Given the description of an element on the screen output the (x, y) to click on. 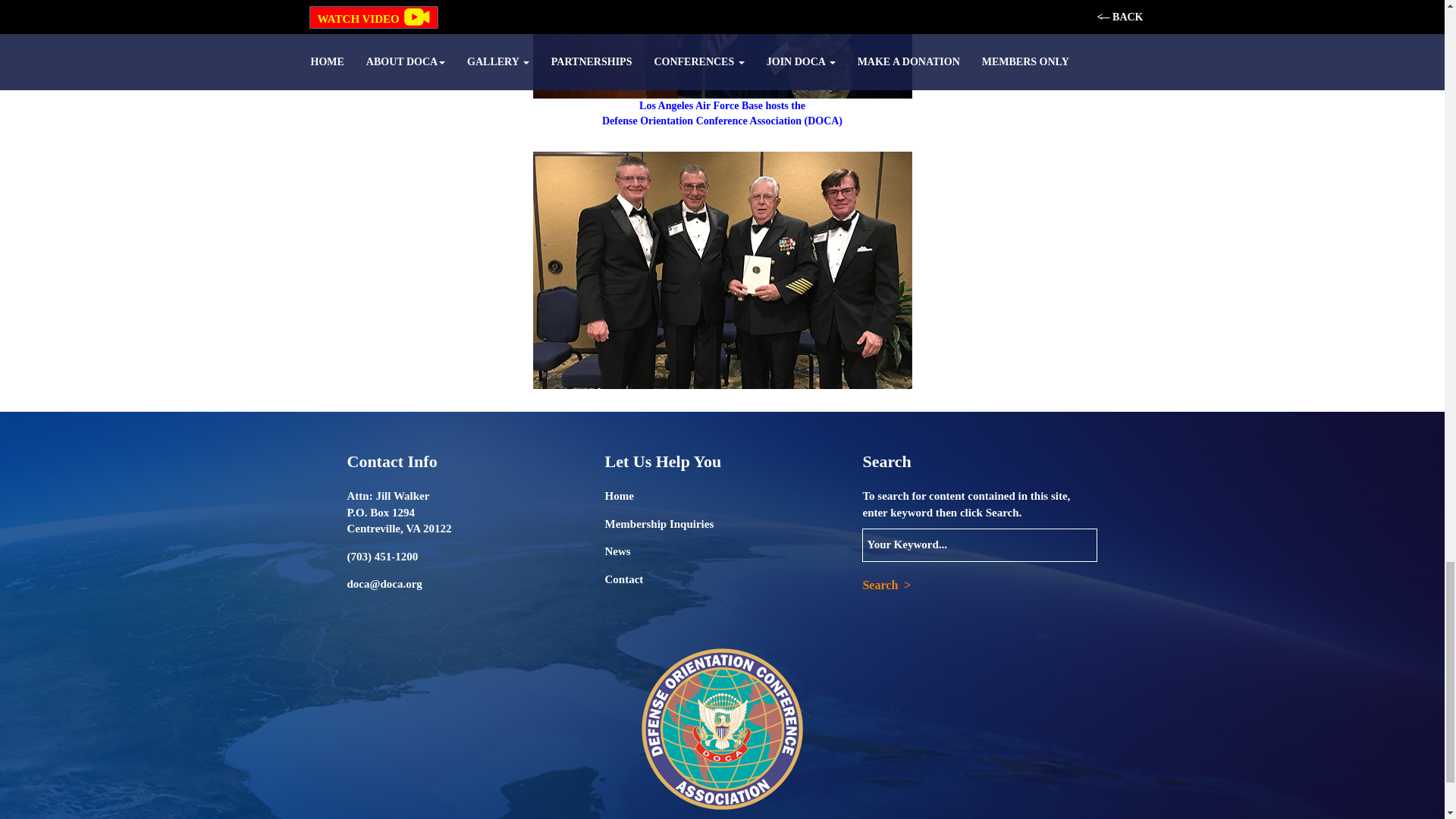
Membership Inquiries (658, 523)
Home (618, 495)
Contact (623, 579)
News (617, 551)
